Given the description of an element on the screen output the (x, y) to click on. 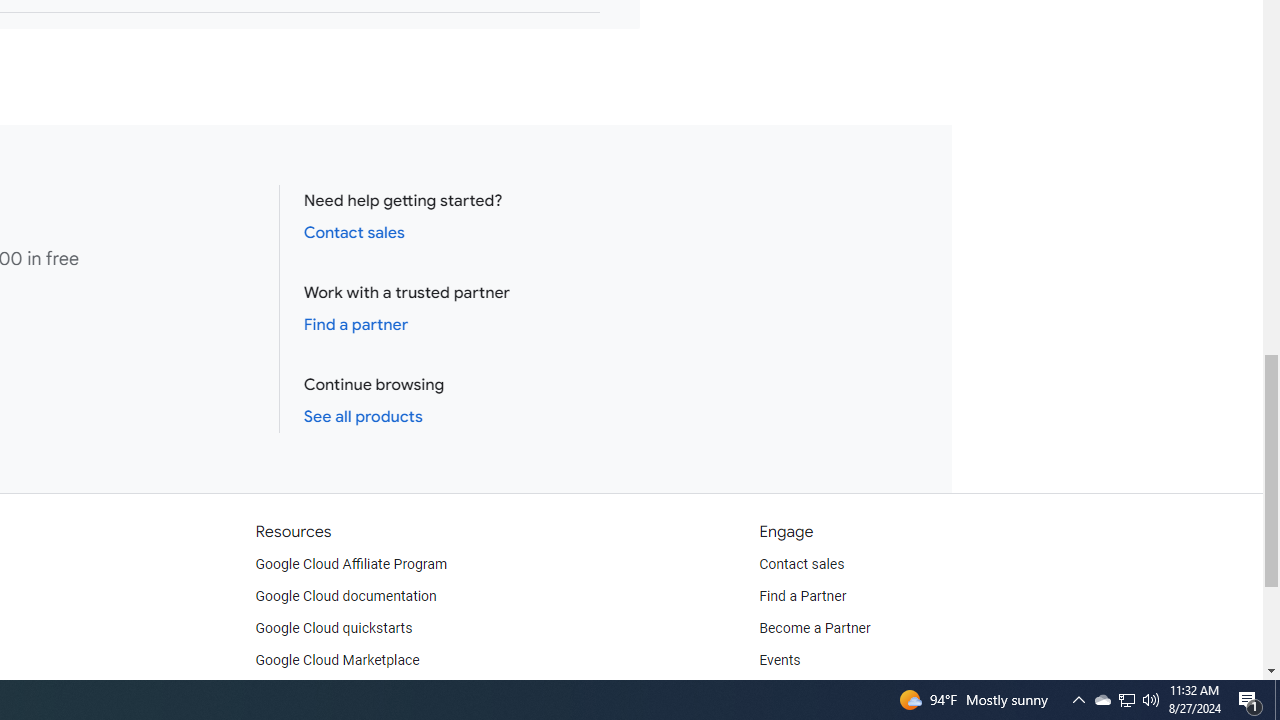
Google Cloud Marketplace (336, 659)
Google Cloud Affiliate Program (351, 564)
Events (780, 659)
Podcasts (788, 692)
Google Cloud documentation (345, 596)
Google Cloud quickstarts (333, 628)
Contact sales (801, 564)
Find a Partner (803, 596)
Become a Partner (814, 628)
Find a partner (356, 323)
Learn about cloud computing (345, 692)
See all products (362, 416)
